Given the description of an element on the screen output the (x, y) to click on. 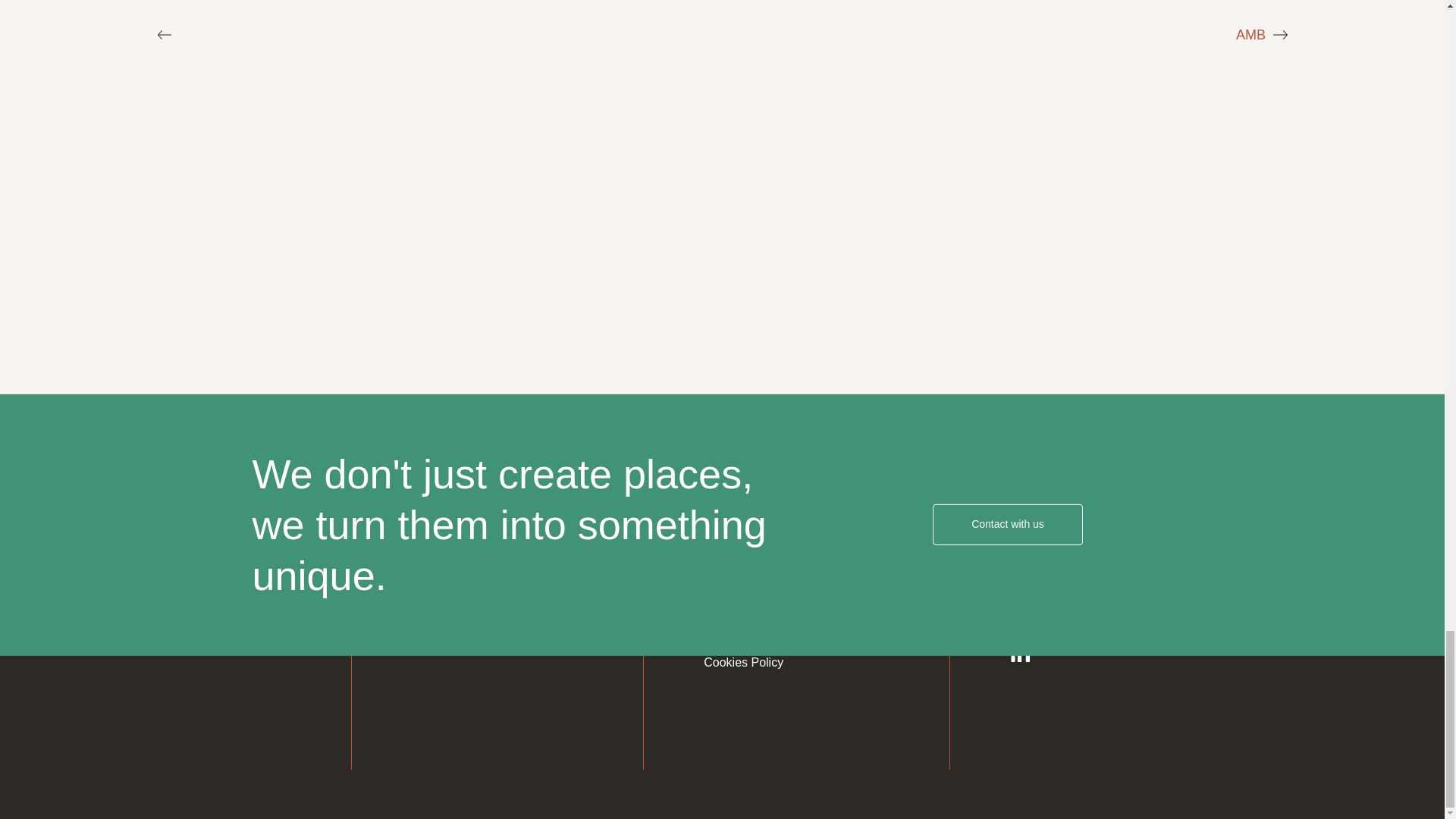
About (719, 517)
Projects (725, 553)
677 87 93 35 (1150, 551)
Legal Notice (737, 589)
Privacy Policy (740, 626)
Contact with us (1008, 524)
ES Group (166, 502)
Cookies Policy (743, 662)
ES Group (166, 527)
Corporate interior design (478, 589)
Graphics and signage (470, 553)
Carpentry (438, 626)
Worldwide (1066, 517)
AMB (1250, 34)
Stands (430, 517)
